Given the description of an element on the screen output the (x, y) to click on. 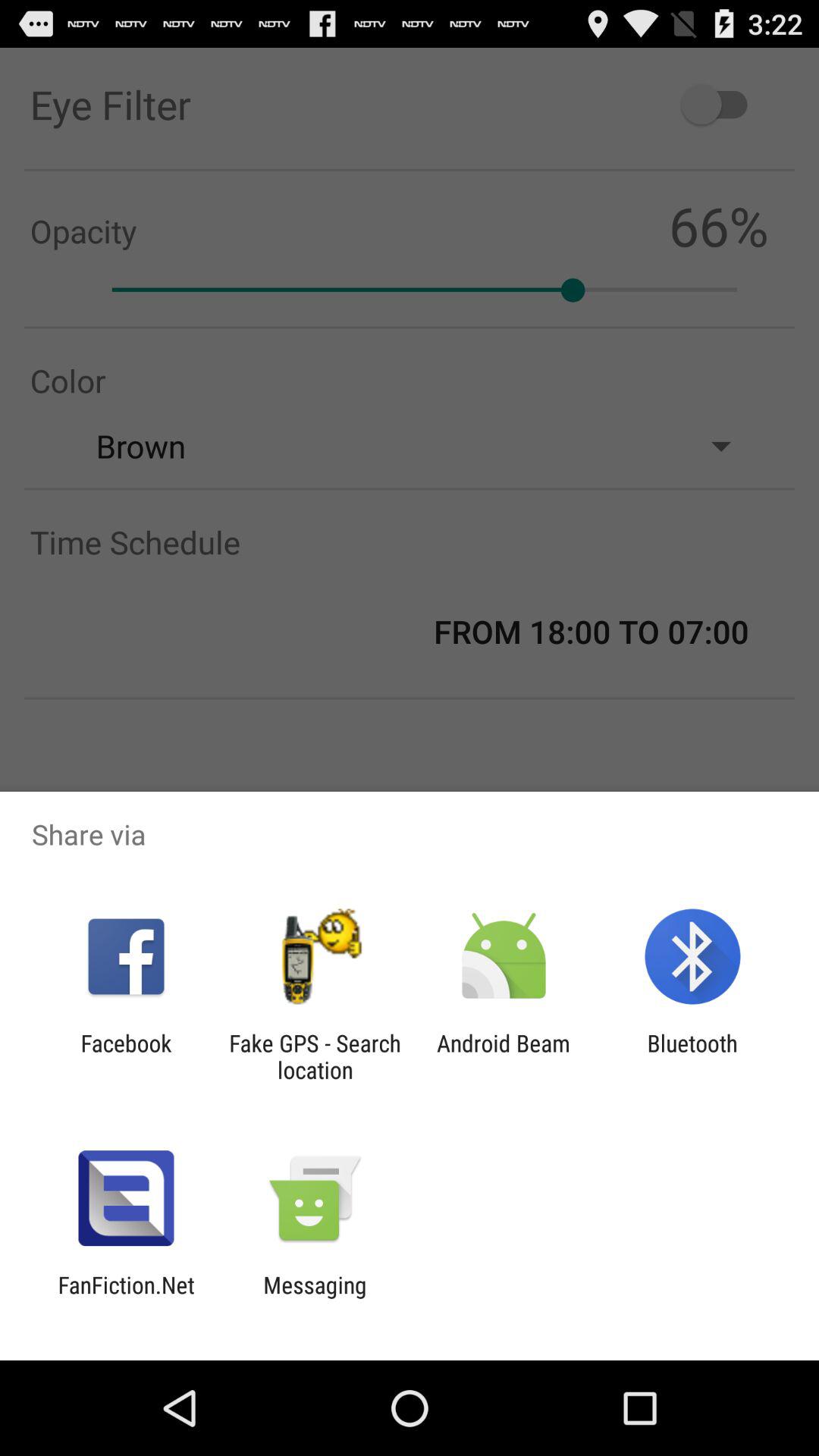
click app to the left of android beam item (314, 1056)
